Given the description of an element on the screen output the (x, y) to click on. 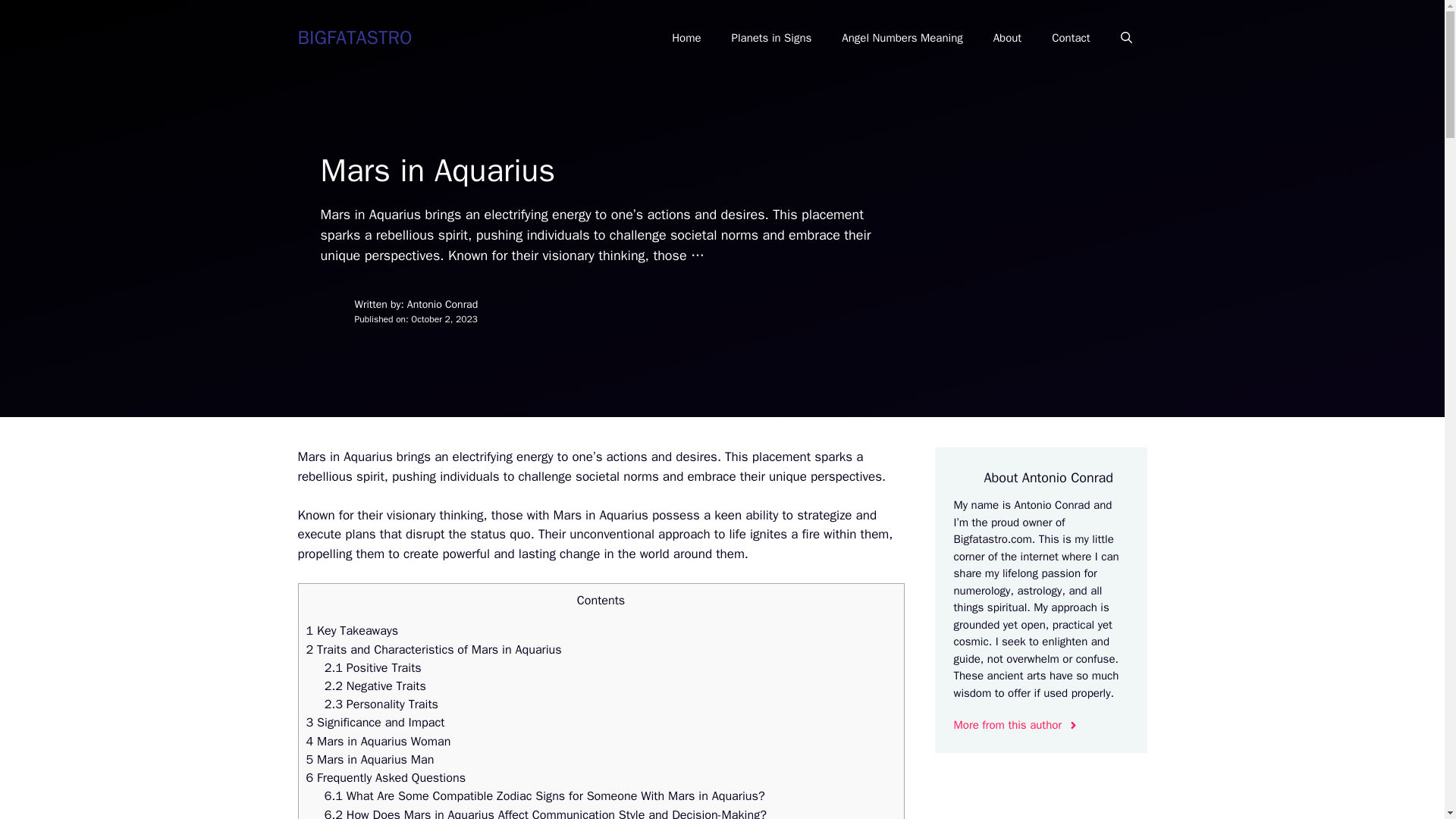
3 Significance and Impact (375, 722)
4 Mars in Aquarius Woman (378, 741)
Planets in Signs (771, 37)
2 Traits and Characteristics of Mars in Aquarius (433, 649)
Home (686, 37)
BIGFATASTRO (354, 37)
6 Frequently Asked Questions (385, 777)
More from this author (1015, 724)
About (1007, 37)
